Given the description of an element on the screen output the (x, y) to click on. 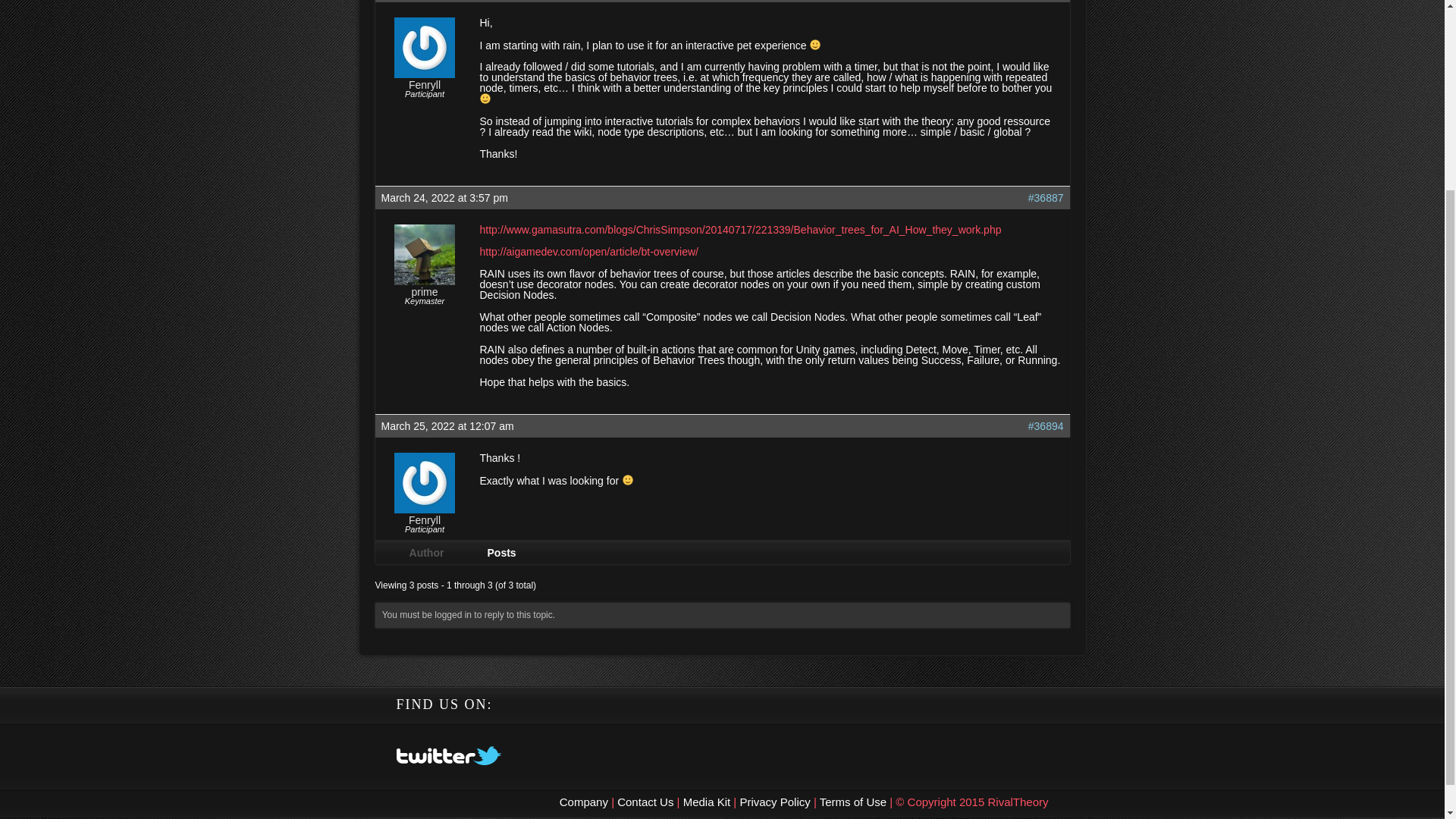
View Fenryll's profile (424, 73)
prime (424, 291)
Privacy Policy (776, 801)
Company (585, 801)
View prime's profile (424, 291)
View Fenryll's profile (425, 520)
Media Kit (707, 801)
Fenryll (425, 520)
Contact Us (645, 801)
Terms of Use (854, 801)
View Fenryll's profile (424, 509)
View Fenryll's profile (425, 84)
Fenryll (425, 84)
View prime's profile (424, 281)
